Given the description of an element on the screen output the (x, y) to click on. 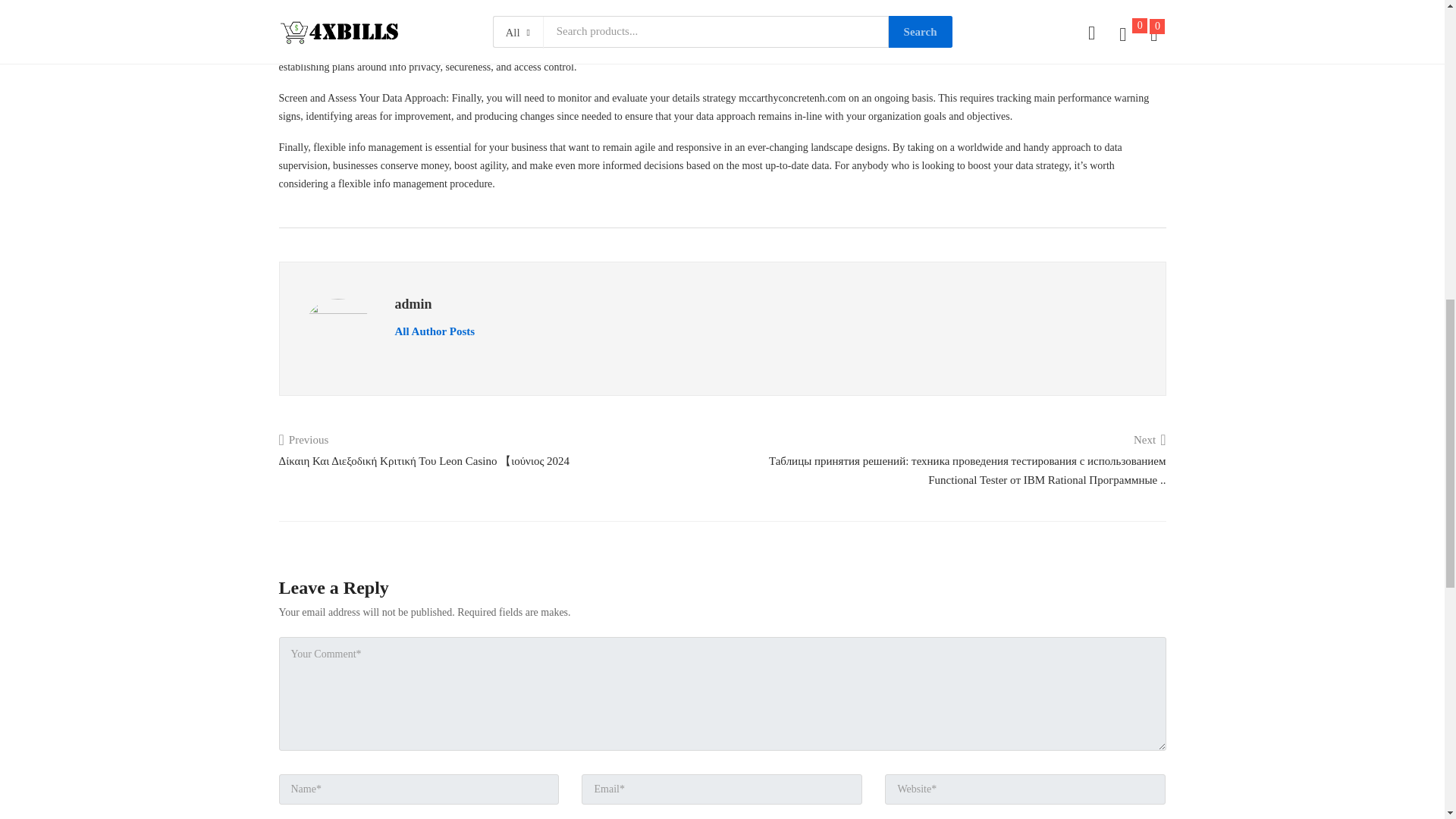
admin (434, 331)
